Given the description of an element on the screen output the (x, y) to click on. 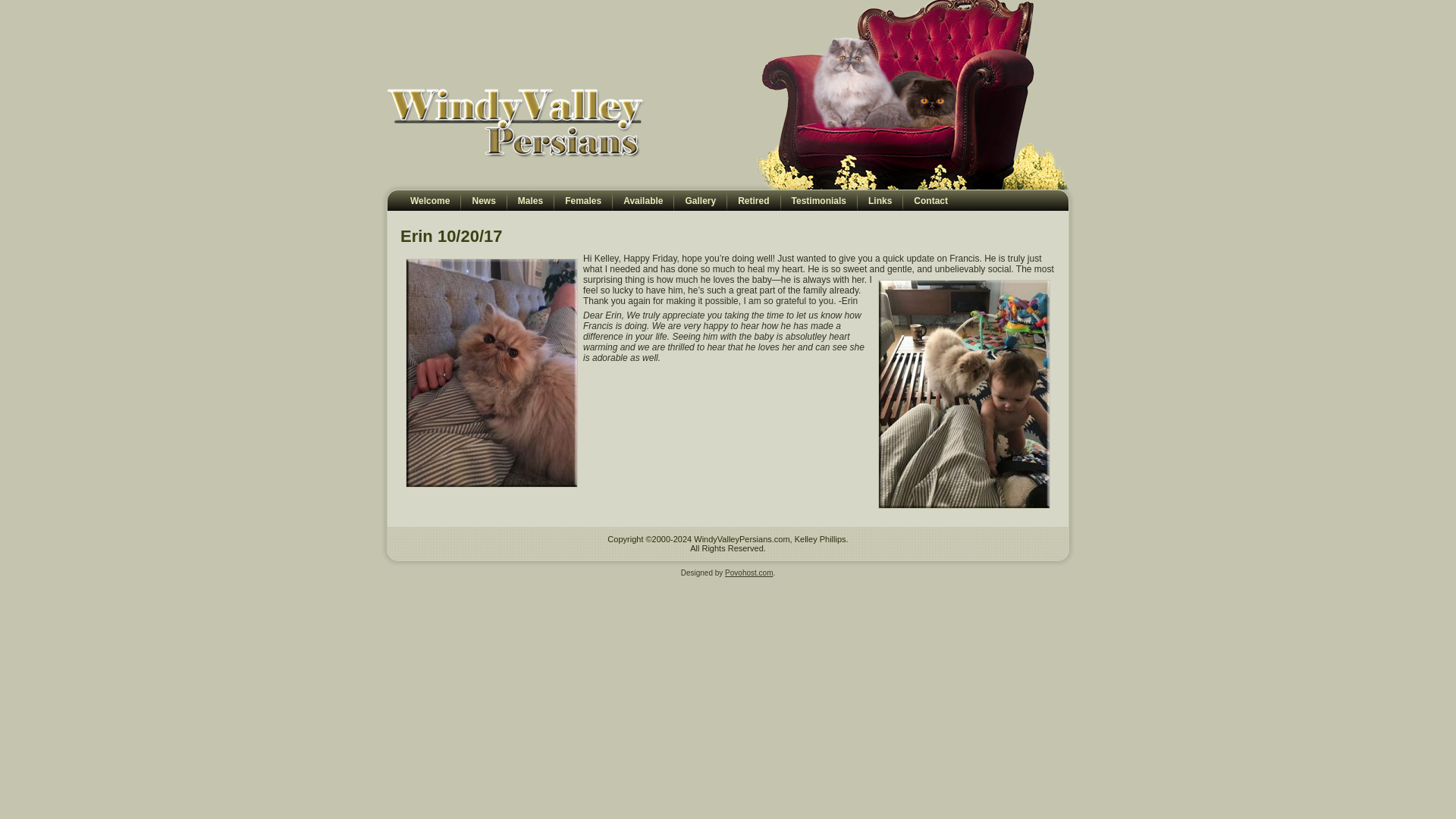
Testimonials (819, 200)
Females (583, 200)
Males (529, 200)
Retired (753, 200)
Welcome (429, 200)
Retired (753, 200)
Welcome (429, 200)
Females (583, 200)
Gallery (700, 200)
Links (880, 200)
Testimonials (819, 200)
Links (880, 200)
Povohost.com (749, 572)
Available (642, 200)
Available (642, 200)
